Given the description of an element on the screen output the (x, y) to click on. 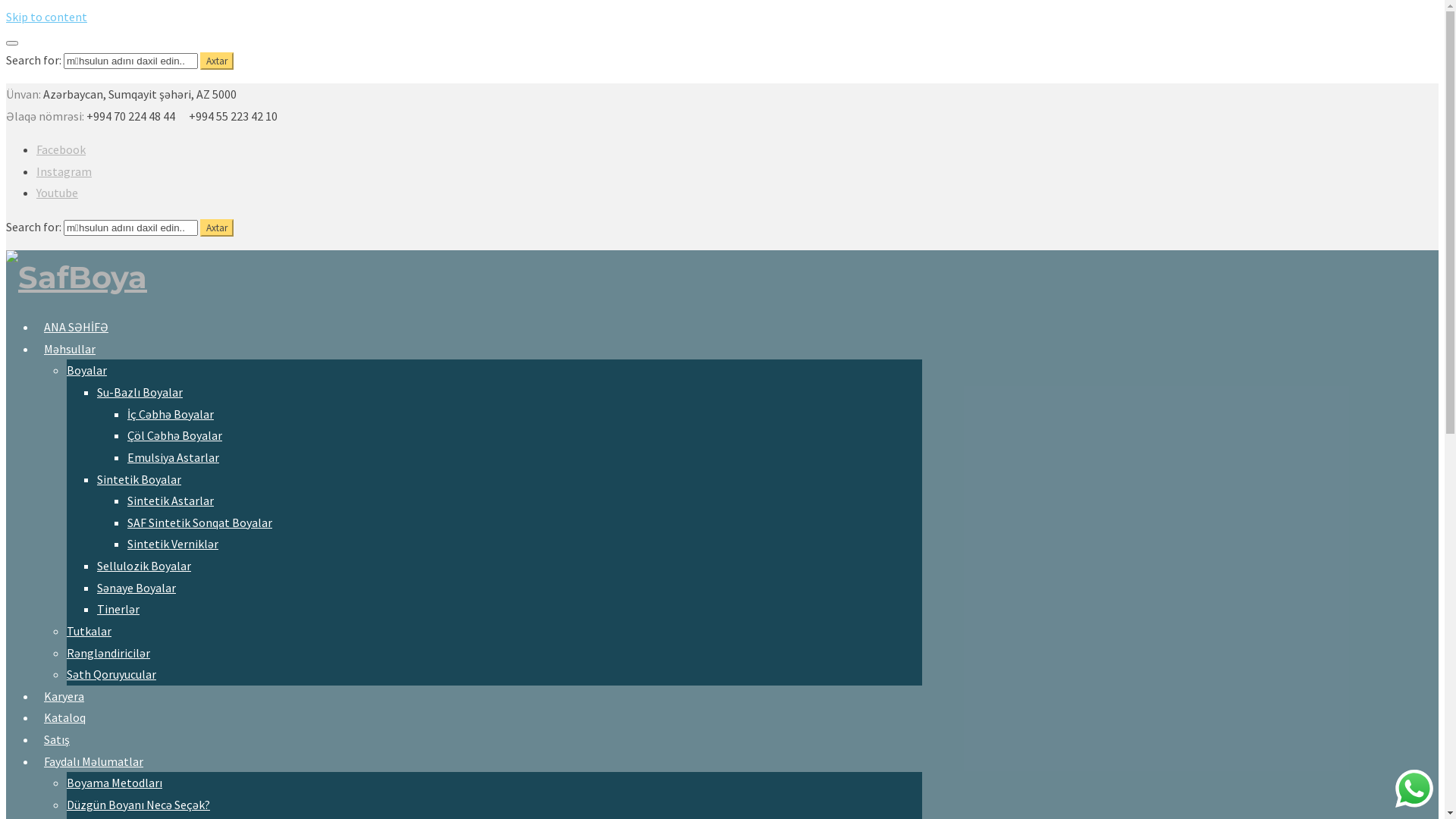
Facebook Element type: text (60, 148)
SAF Sintetik Sonqat Boyalar Element type: text (199, 522)
Skip to content Element type: text (46, 16)
Emulsiya Astarlar Element type: text (173, 456)
Tutkalar Element type: text (88, 630)
Youtube Element type: text (57, 192)
WhatsApp Element type: hover (1414, 788)
Boyalar Element type: text (86, 369)
Karyera Element type: text (60, 693)
Axtar Element type: text (216, 60)
Instagram Element type: text (63, 170)
Axtar Element type: text (216, 227)
Sellulozik Boyalar Element type: text (144, 565)
Kataloq Element type: text (60, 715)
Sintetik Boyalar Element type: text (139, 478)
Sintetik Astarlar Element type: text (170, 500)
